Given the description of an element on the screen output the (x, y) to click on. 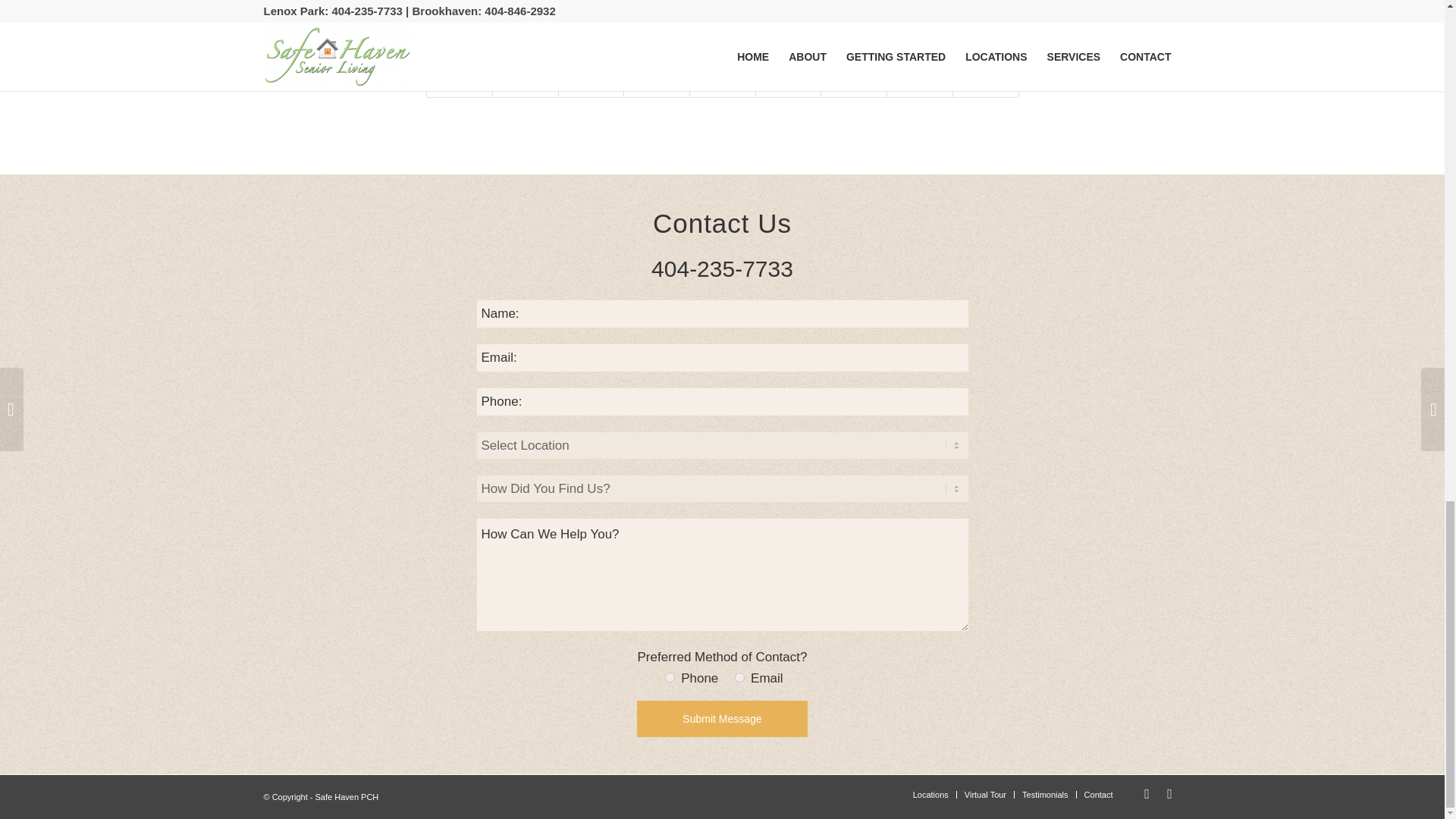
Facebook (1146, 793)
Submit Message (722, 719)
Email (739, 677)
Phone (670, 677)
